Given the description of an element on the screen output the (x, y) to click on. 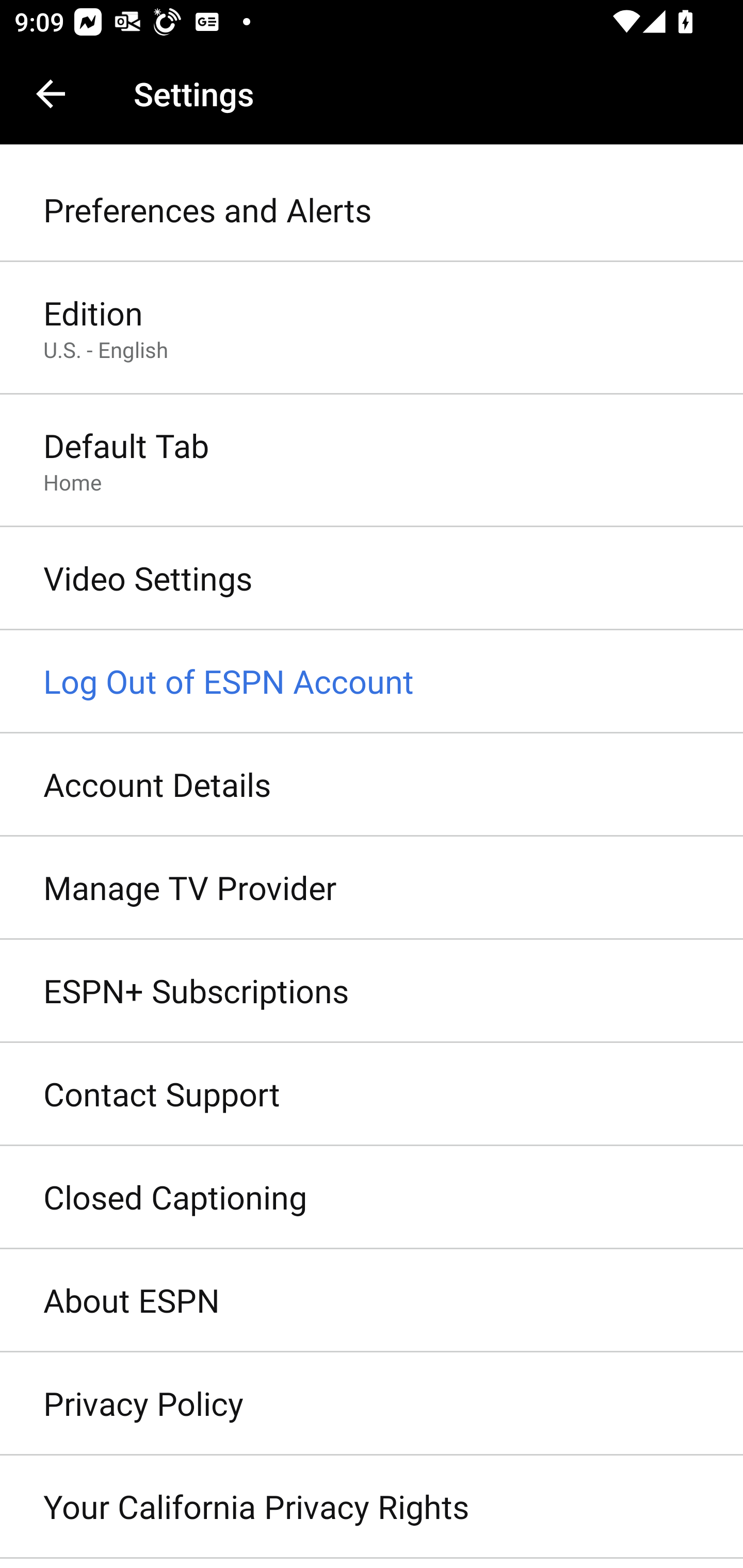
Navigate up (50, 93)
Preferences and Alerts (371, 209)
Edition U.S. - English (371, 328)
Default Tab Home (371, 461)
Video Settings (371, 578)
Log Out of ESPN Account (371, 681)
Account Details (371, 785)
Manage TV Provider (371, 888)
ESPN+ Subscriptions (371, 990)
Contact Support (371, 1094)
Closed Captioning (371, 1197)
About ESPN (371, 1301)
Privacy Policy (371, 1403)
Your California Privacy Rights (371, 1506)
